Given the description of an element on the screen output the (x, y) to click on. 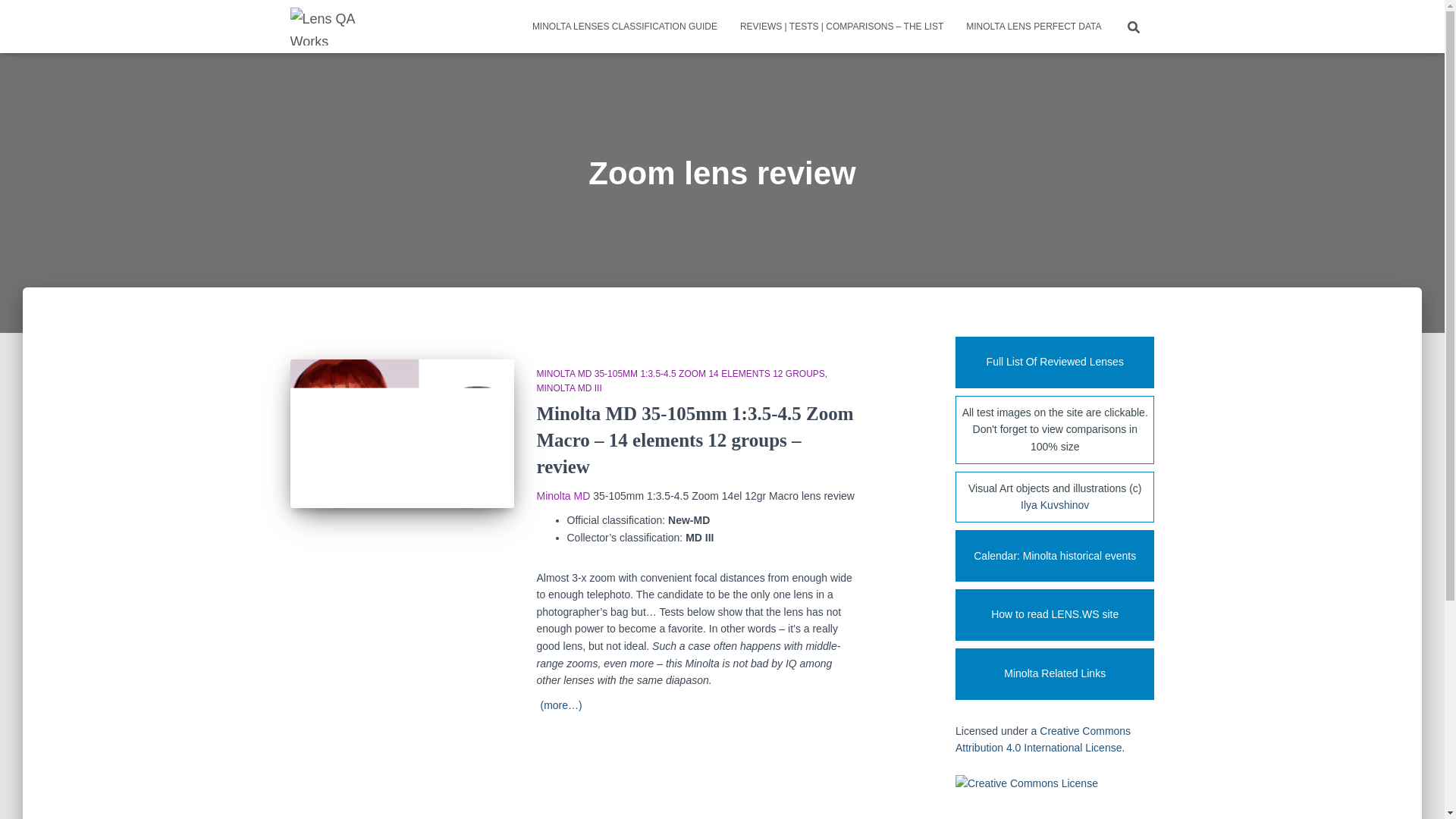
View all posts in Minolta MD III (569, 388)
MINOLTA LENS PERFECT DATA (1033, 26)
Creative Commons Attribution 4.0 International License. (1043, 739)
Search (16, 16)
MINOLTA LENSES CLASSIFICATION GUIDE (625, 26)
Lens QA Works (324, 26)
Minolta Lenses Classification Guide (625, 26)
Minolta MD (564, 495)
Minolta Related Links (1054, 674)
Ilya Kuvshinov (1054, 504)
